Given the description of an element on the screen output the (x, y) to click on. 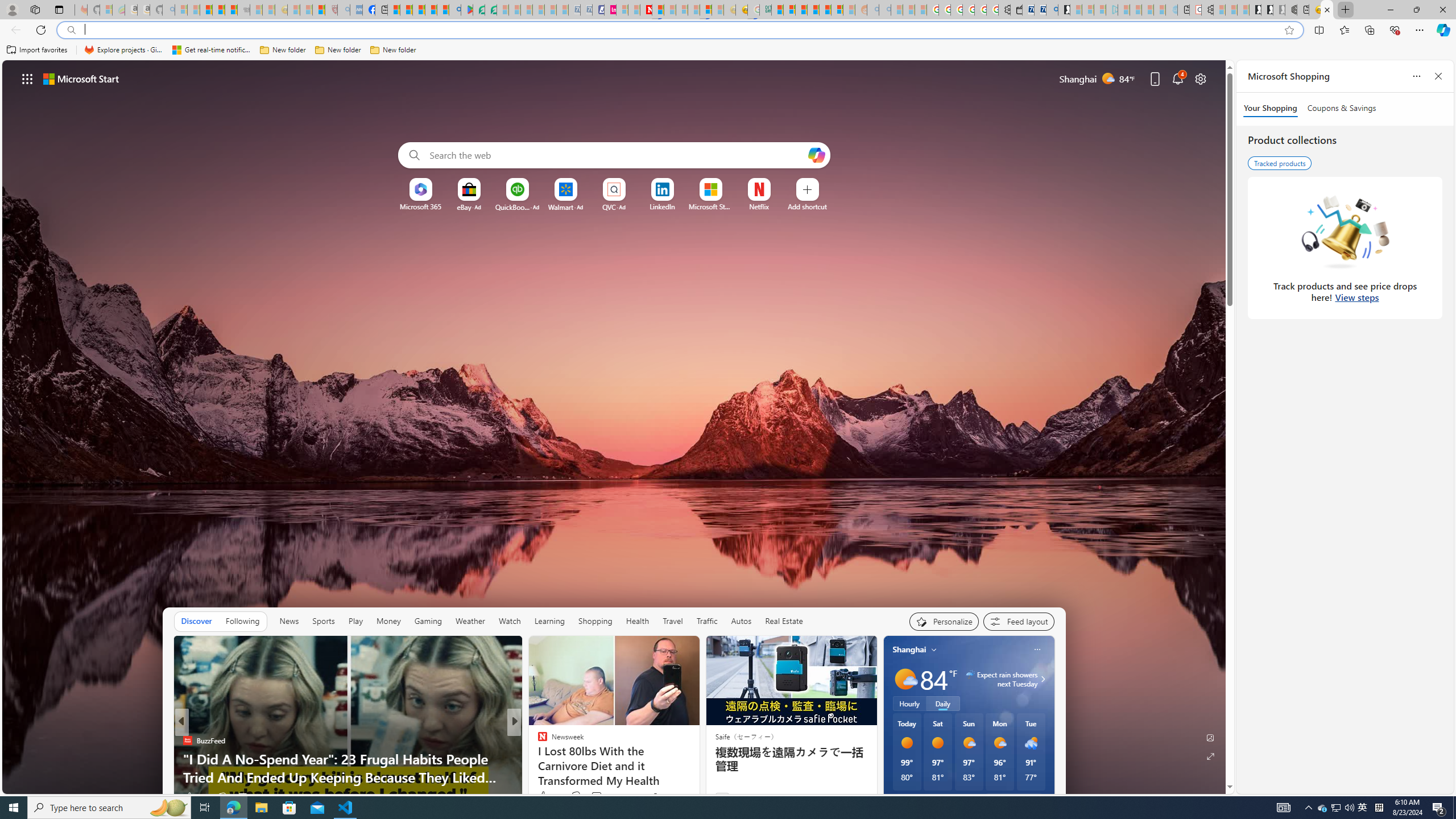
Class: weather-arrow-glyph (1043, 678)
View comments 30 Comment (592, 797)
Rain showers (1030, 742)
365 Like (545, 796)
